Given the description of an element on the screen output the (x, y) to click on. 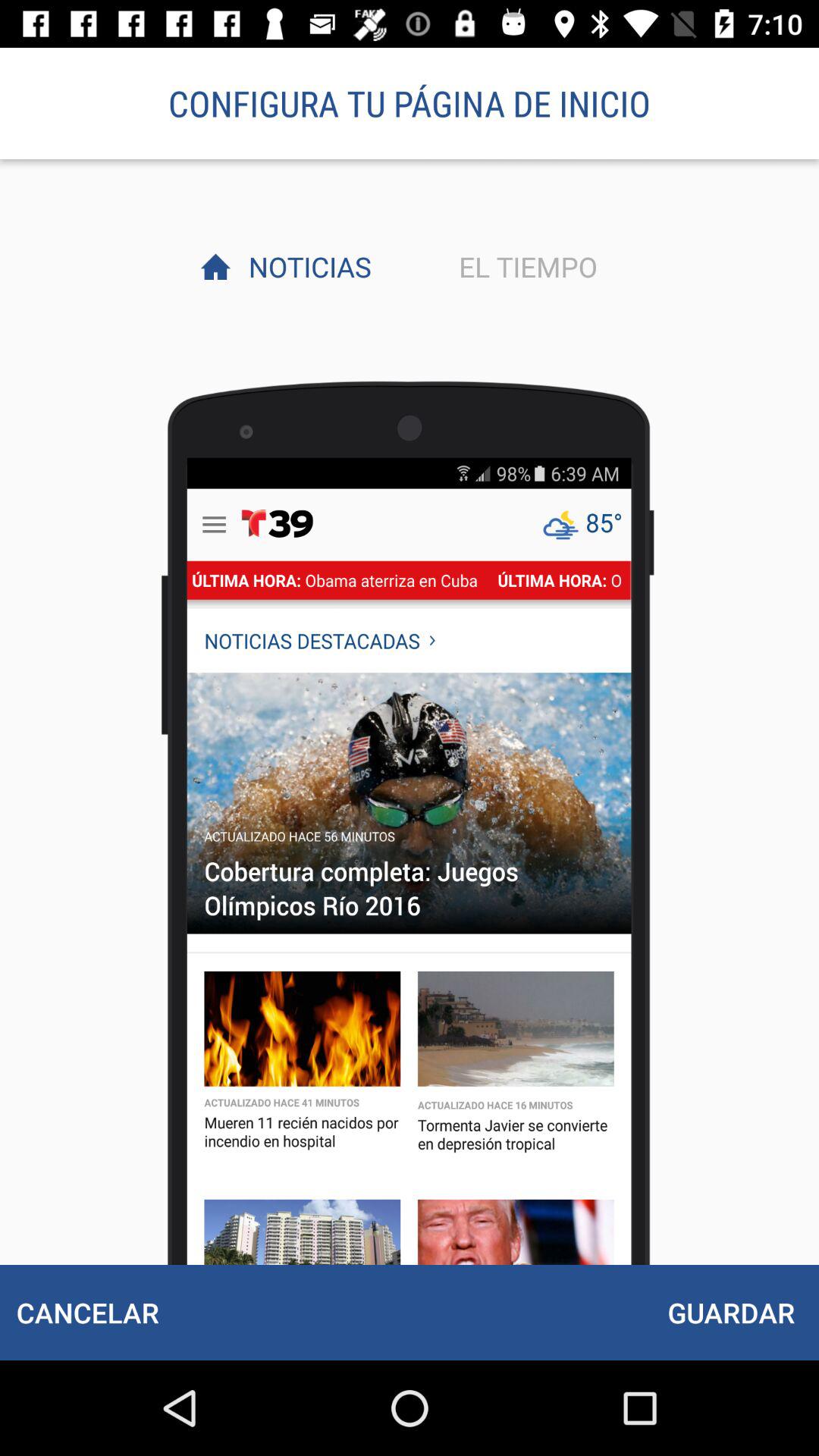
turn off item above the noticias (409, 103)
